Given the description of an element on the screen output the (x, y) to click on. 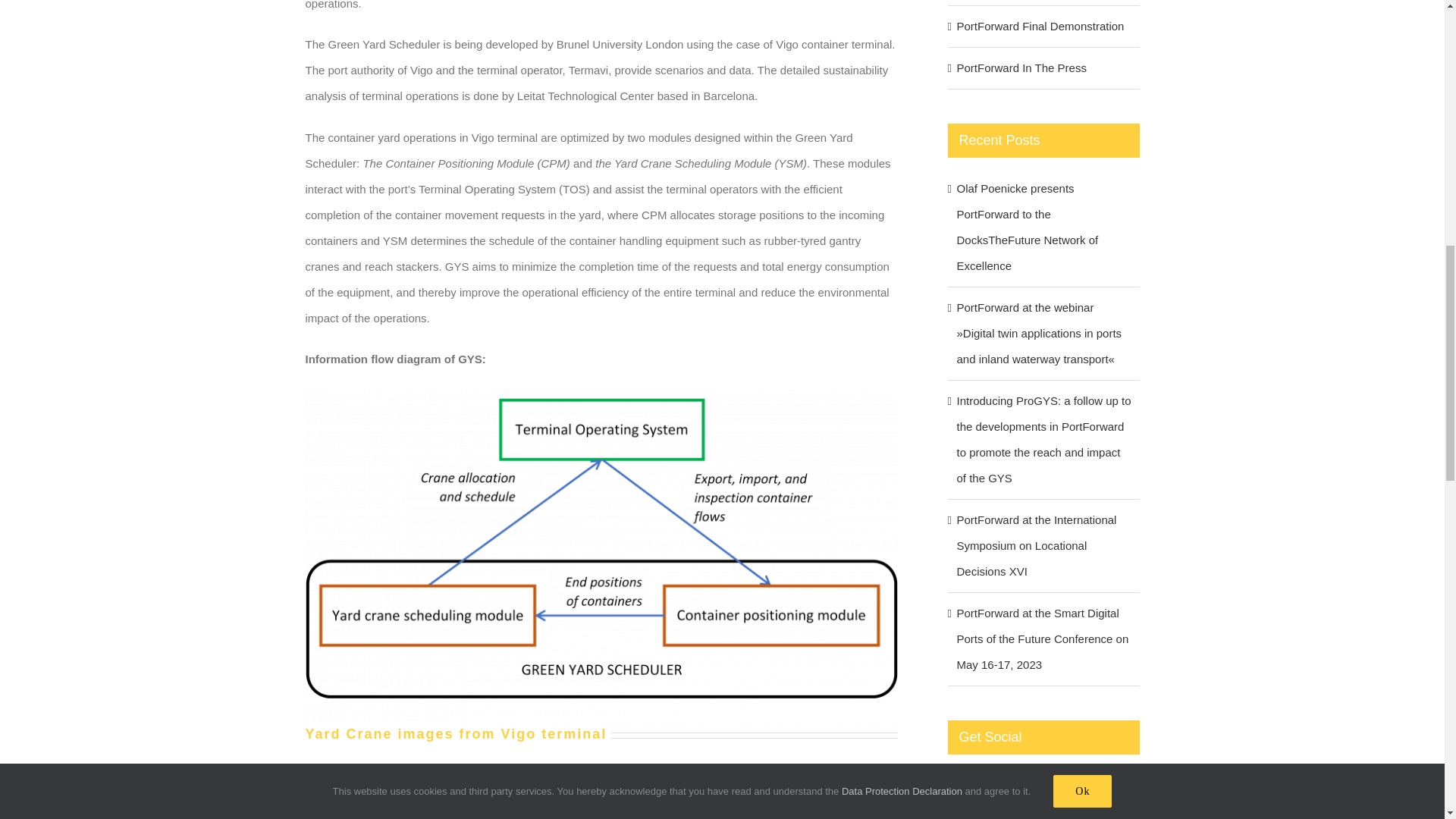
Termavi (835, 779)
Picture1ReachStacker (450, 813)
Picture2RubberTyredGantryCrane (751, 813)
